Given the description of an element on the screen output the (x, y) to click on. 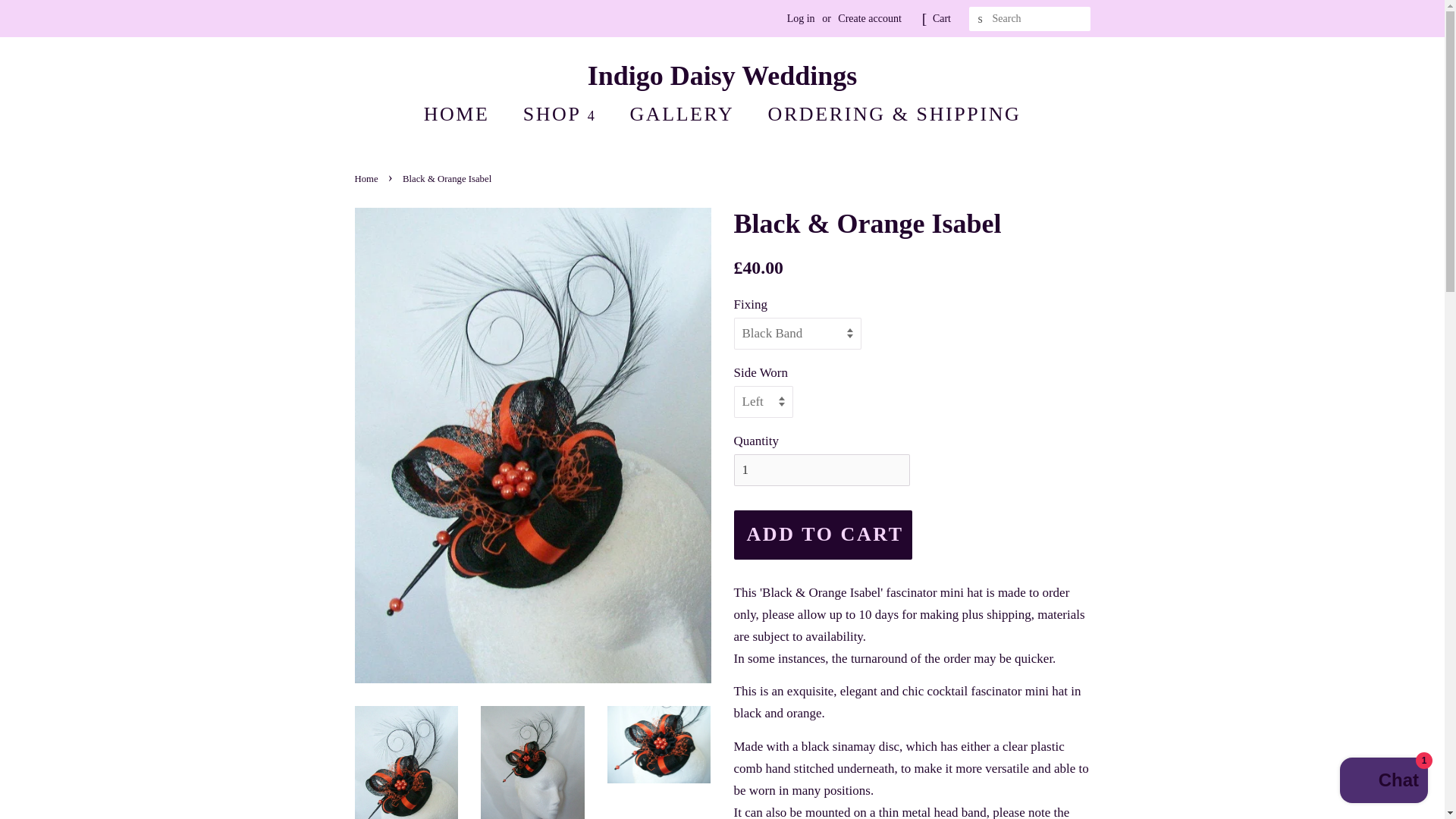
Back to the frontpage (368, 178)
Log in (801, 18)
SEARCH (980, 18)
Cart (941, 18)
Create account (869, 18)
Shopify online store chat (1383, 781)
1 (821, 470)
